Given the description of an element on the screen output the (x, y) to click on. 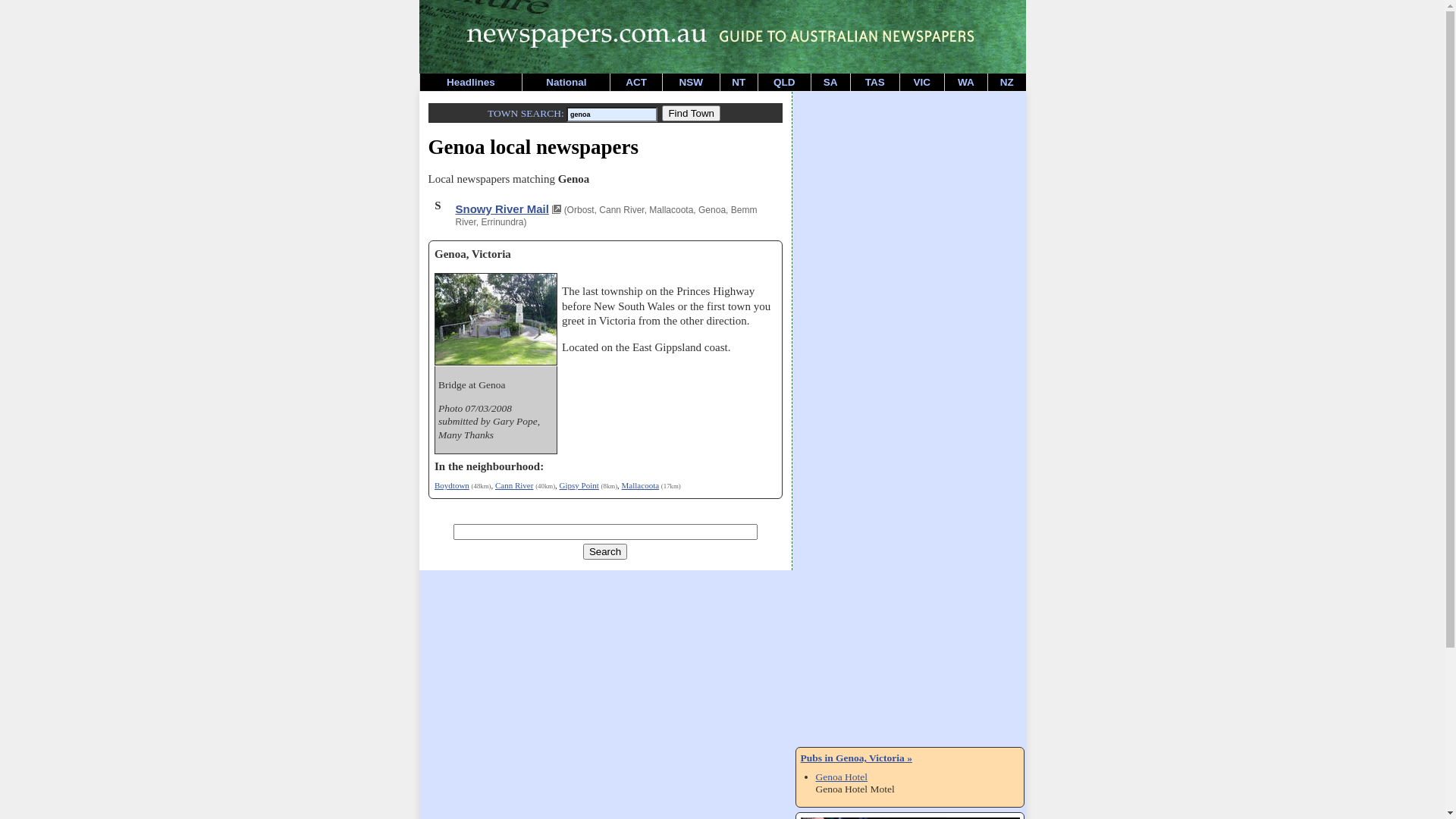
Search for a town in Australia or New Zealand Element type: hover (691, 113)
Find Town Element type: text (691, 113)
NSW Element type: text (690, 82)
Boydtown Element type: text (451, 484)
Search Element type: text (605, 551)
Advertisement Element type: hover (908, 189)
TAS Element type: text (874, 82)
National Element type: text (565, 82)
NT Element type: text (738, 82)
VIC Element type: text (922, 82)
SA Element type: text (830, 82)
Gipsy Point Element type: text (579, 484)
Bridge at Genoa Element type: hover (495, 361)
WA Element type: text (965, 82)
Mallacoota Element type: text (639, 484)
Advertisement Element type: hover (908, 514)
Snowy River Mail Element type: text (507, 209)
Genoa Hotel Element type: text (841, 776)
ACT Element type: text (636, 82)
NZ Element type: text (1006, 82)
Headlines Element type: text (471, 82)
Cann River Element type: text (514, 484)
QLD Element type: text (784, 82)
